Given the description of an element on the screen output the (x, y) to click on. 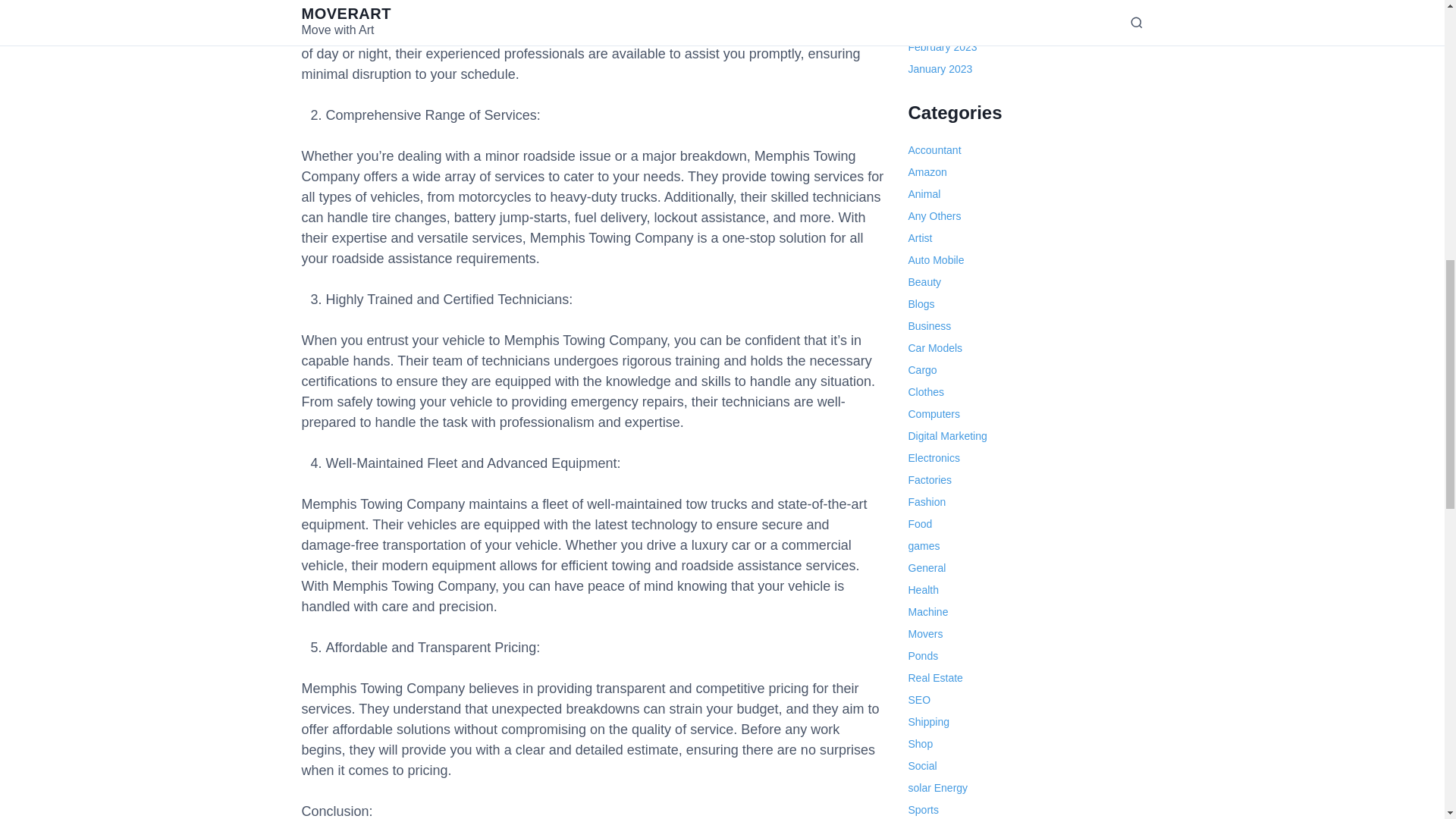
June 2023 (933, 4)
